Given the description of an element on the screen output the (x, y) to click on. 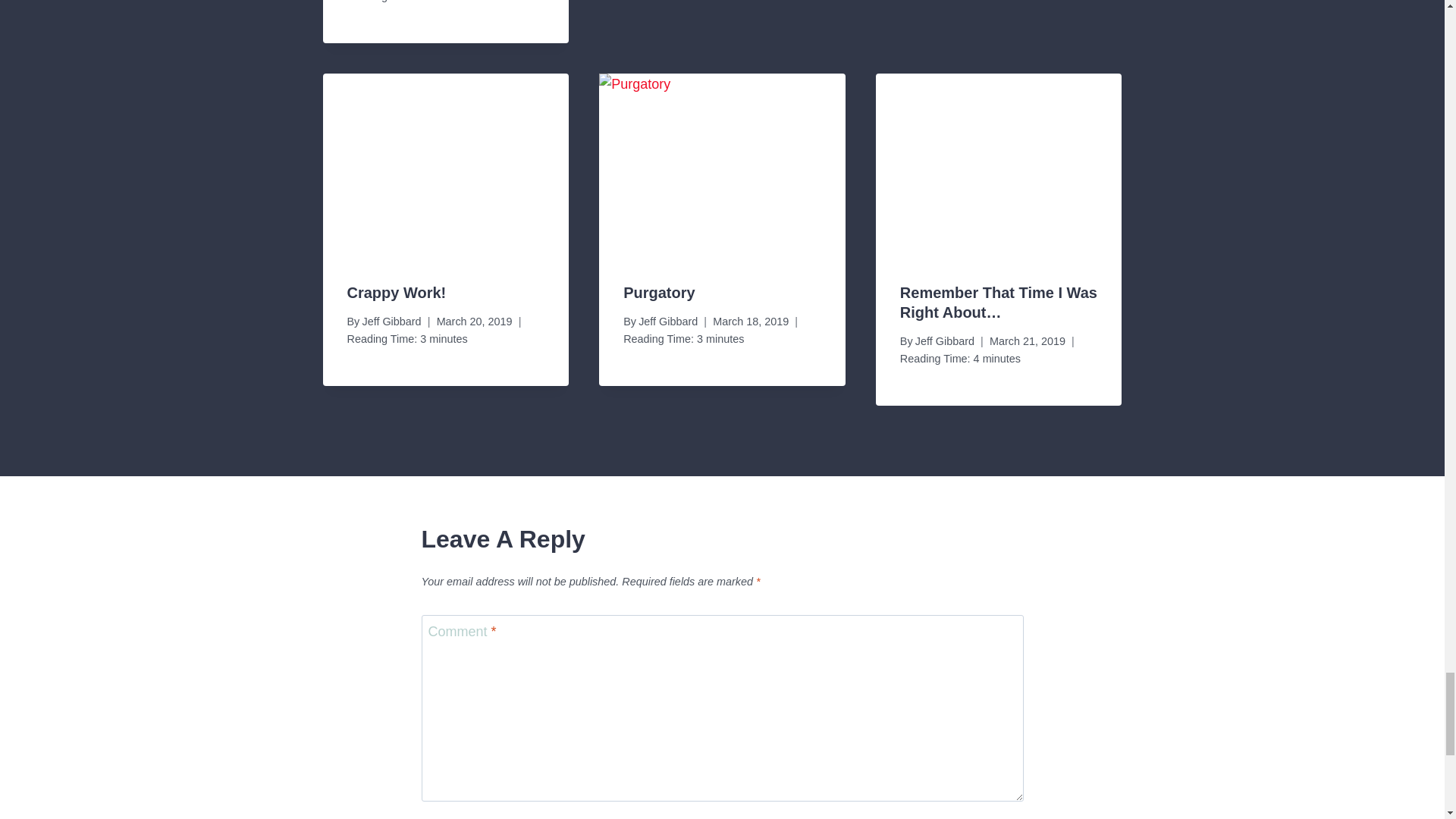
Crappy Work! (396, 292)
Jeff Gibbard (668, 321)
Purgatory (658, 292)
Jeff Gibbard (390, 321)
